Given the description of an element on the screen output the (x, y) to click on. 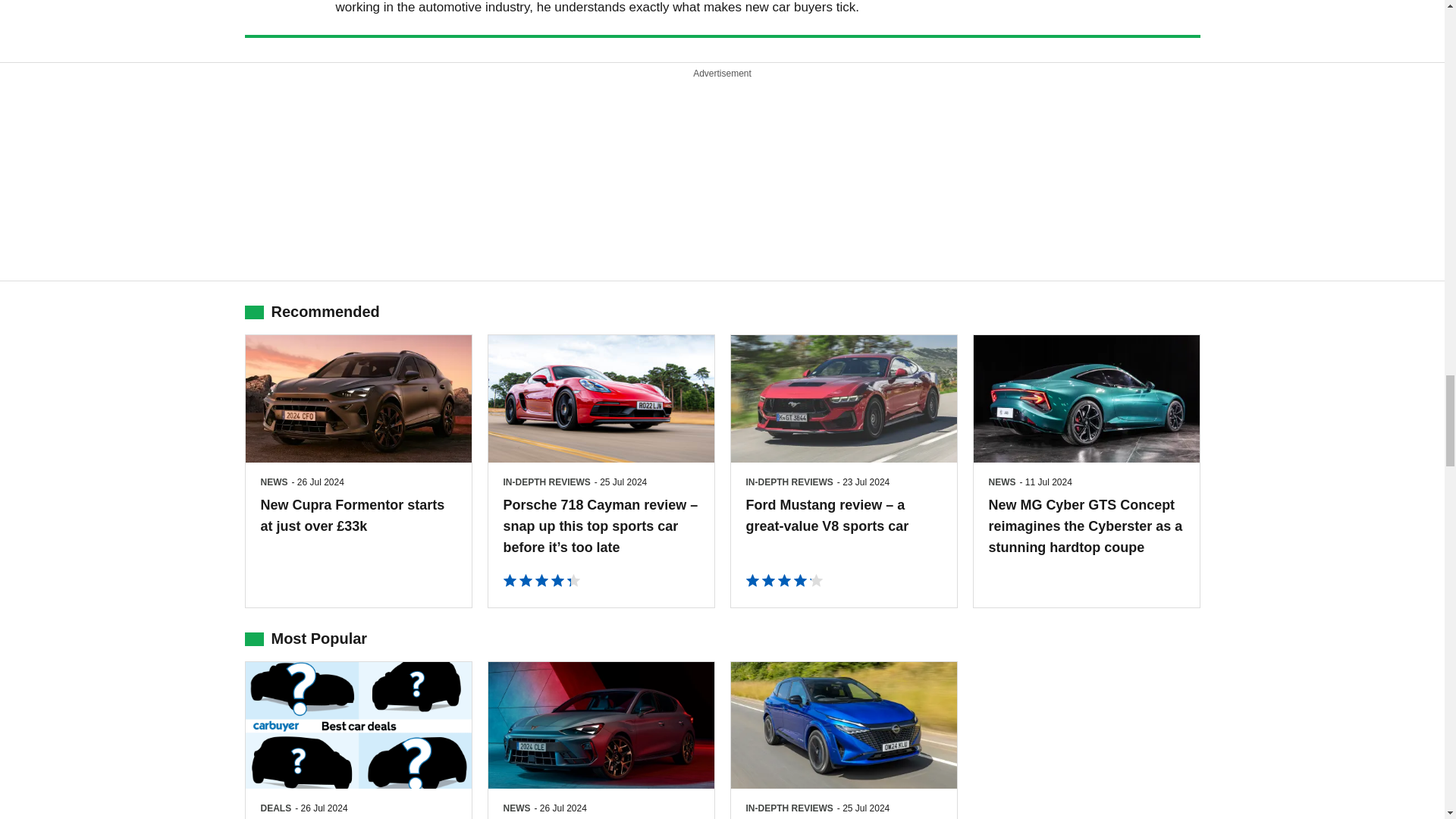
4.1 Stars (783, 581)
4.3 Stars (541, 581)
